Given the description of an element on the screen output the (x, y) to click on. 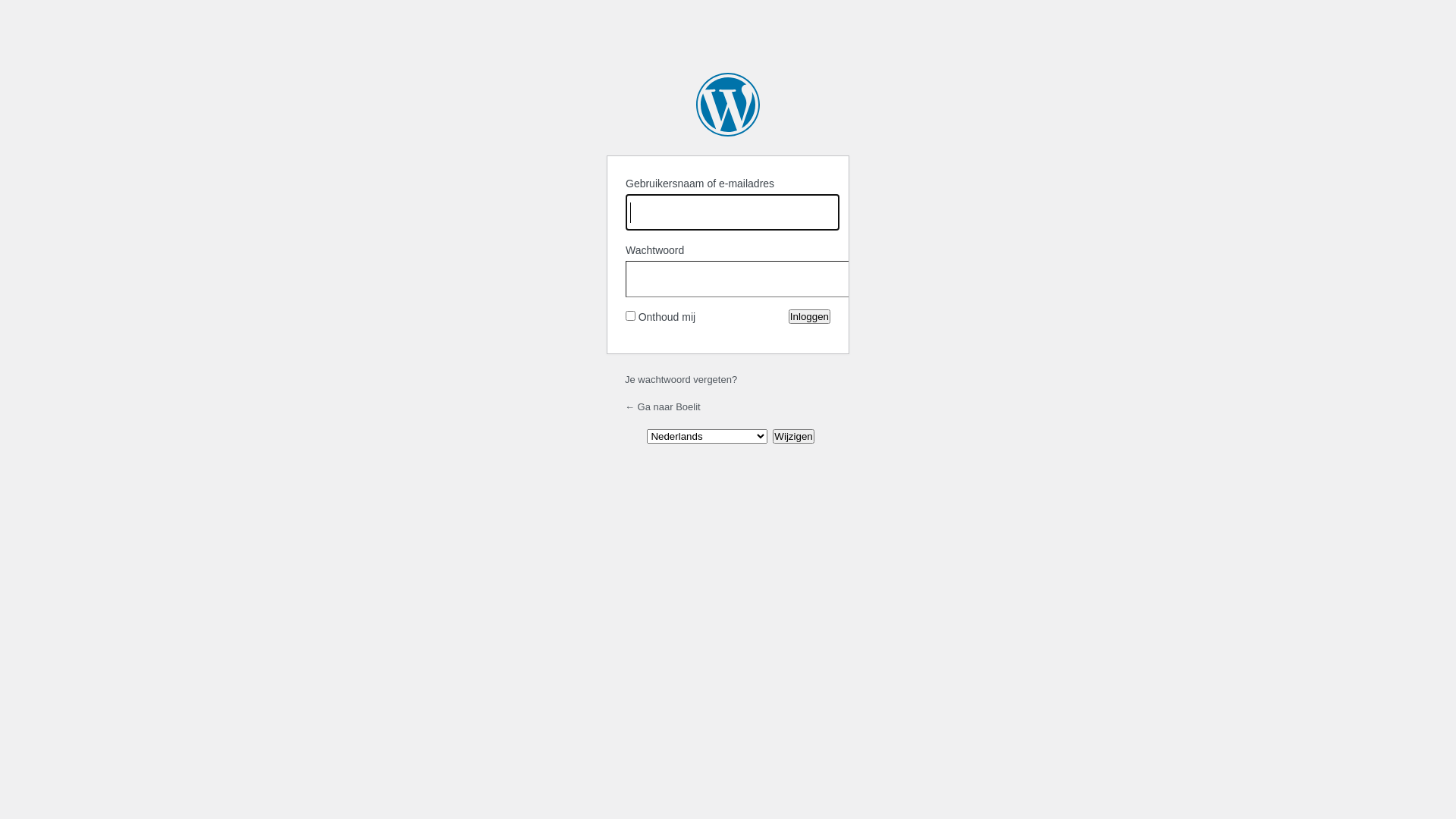
Inloggen Element type: text (809, 316)
Mogelijk gemaakt door WordPress Element type: text (727, 104)
Je wachtwoord vergeten? Element type: text (680, 379)
Wijzigen Element type: text (792, 436)
